Given the description of an element on the screen output the (x, y) to click on. 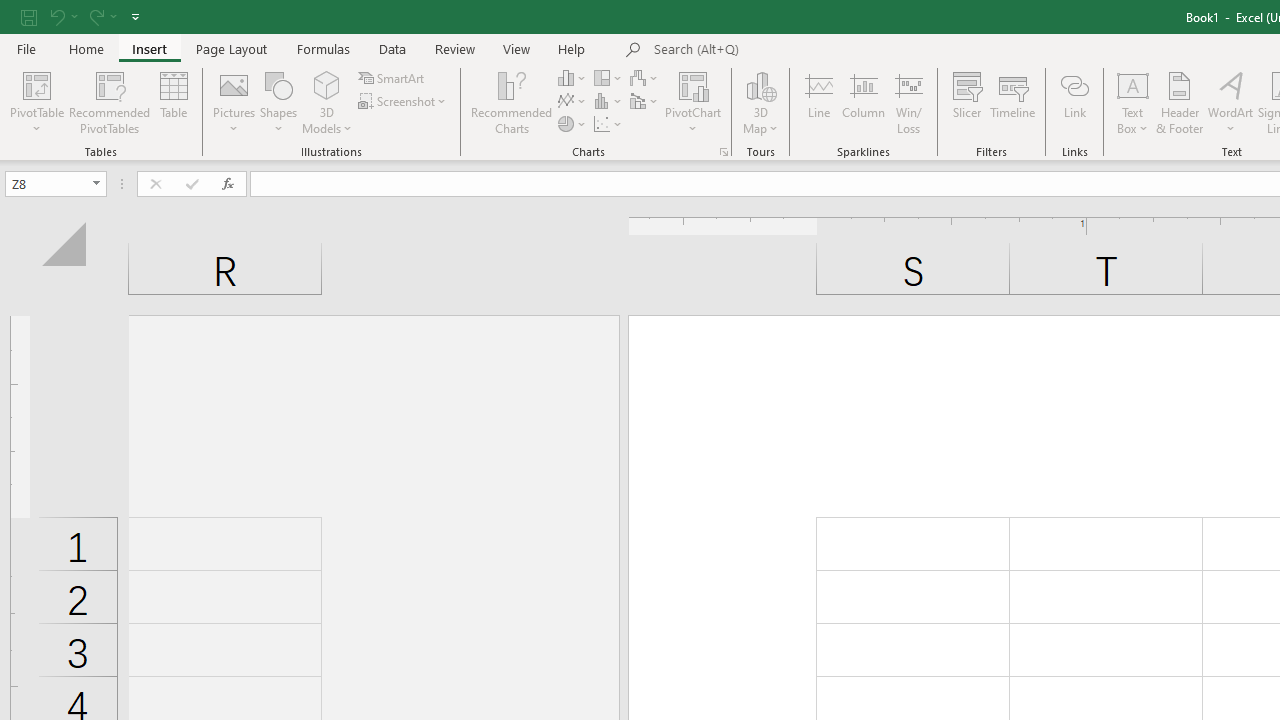
Shapes (278, 102)
Line (818, 102)
Column (863, 102)
Link (1074, 102)
Insert Statistic Chart (609, 101)
PivotTable (36, 84)
PivotChart (693, 102)
Text Box (1133, 102)
